Given the description of an element on the screen output the (x, y) to click on. 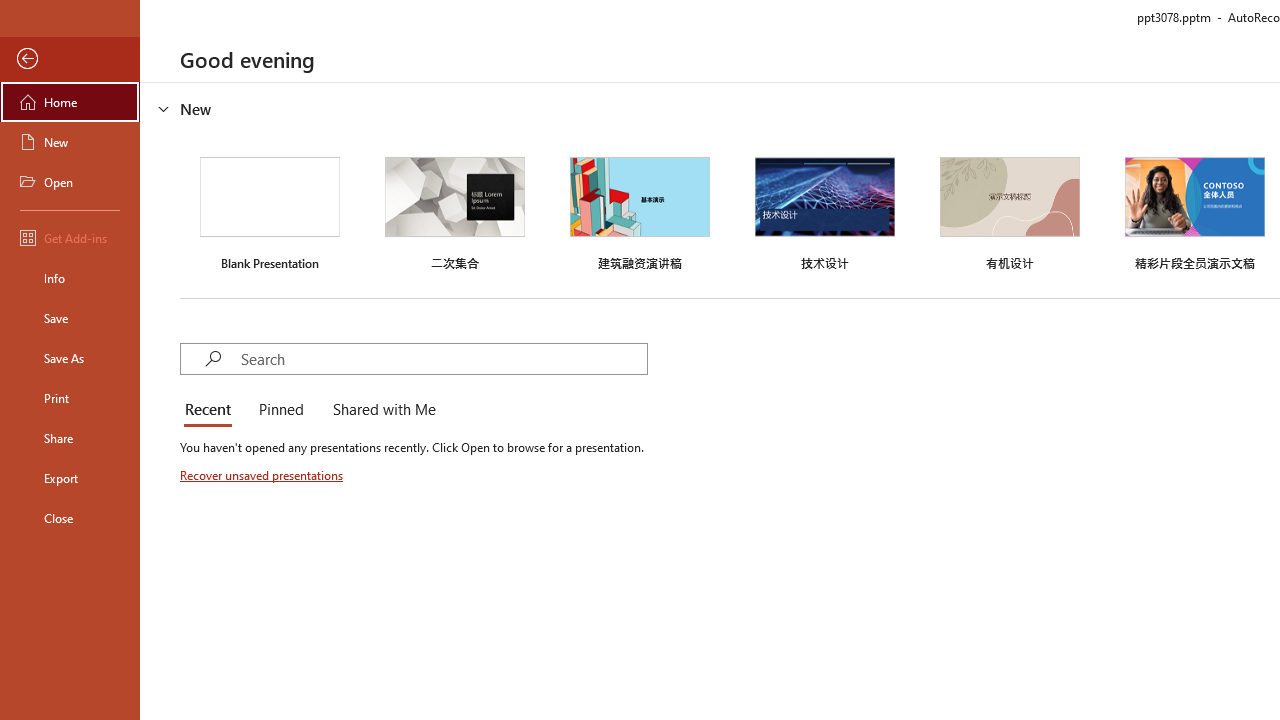
Recent (212, 410)
Export (69, 477)
Info (69, 277)
Back (69, 59)
New (69, 141)
Recover unsaved presentations (263, 475)
Blank Presentation (269, 211)
Print (69, 398)
